Given the description of an element on the screen output the (x, y) to click on. 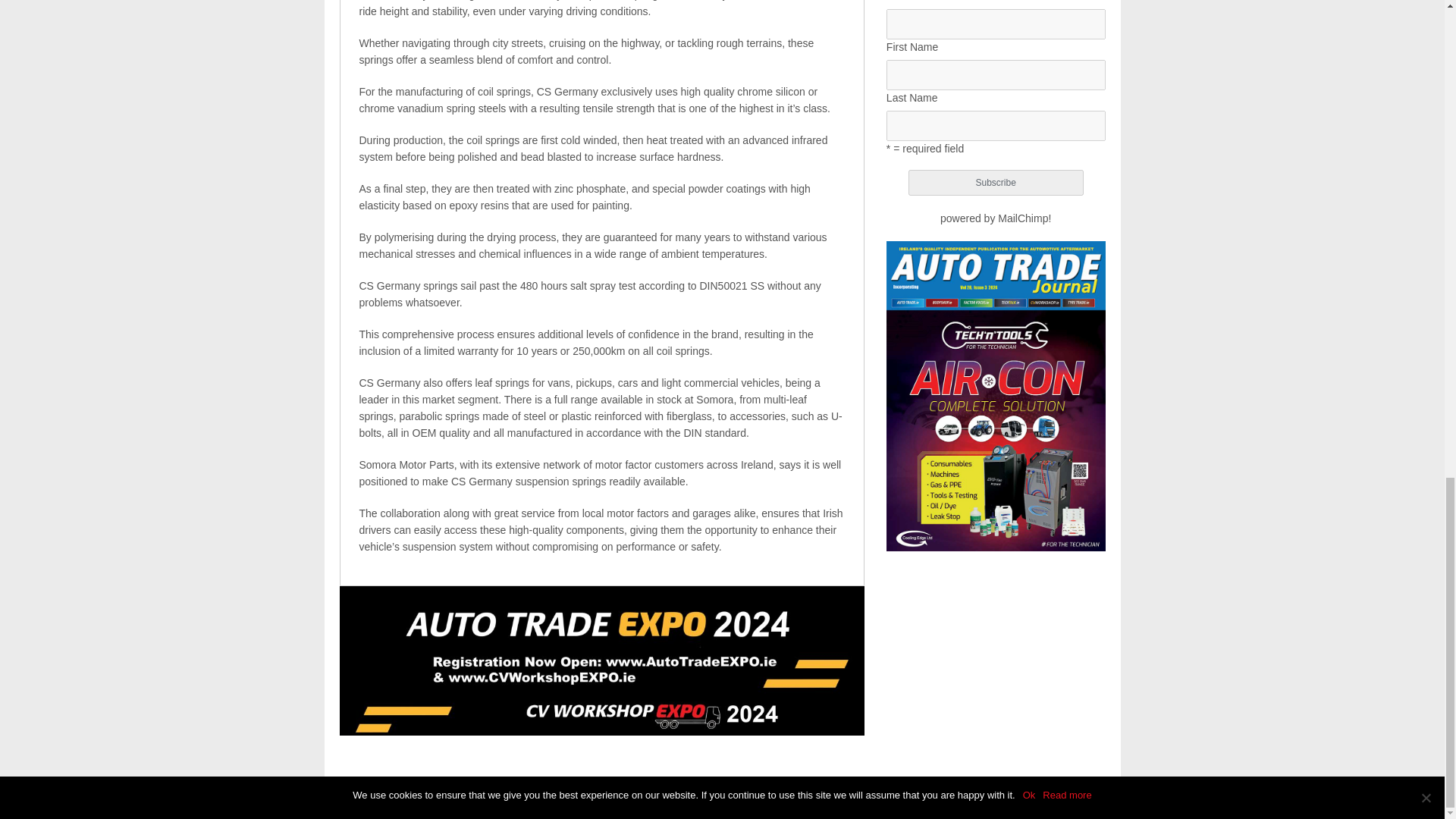
Subscribe (995, 182)
